Given the description of an element on the screen output the (x, y) to click on. 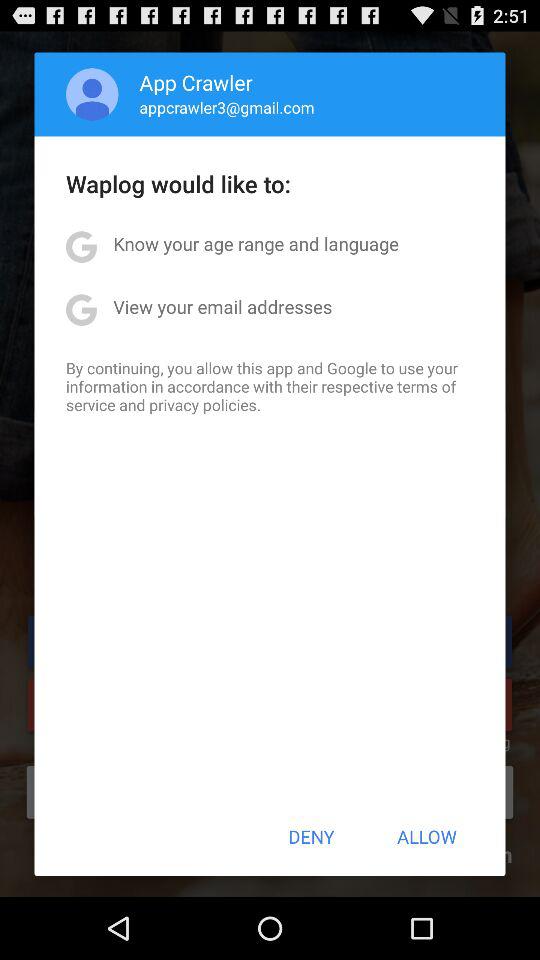
turn on deny button (311, 836)
